Given the description of an element on the screen output the (x, y) to click on. 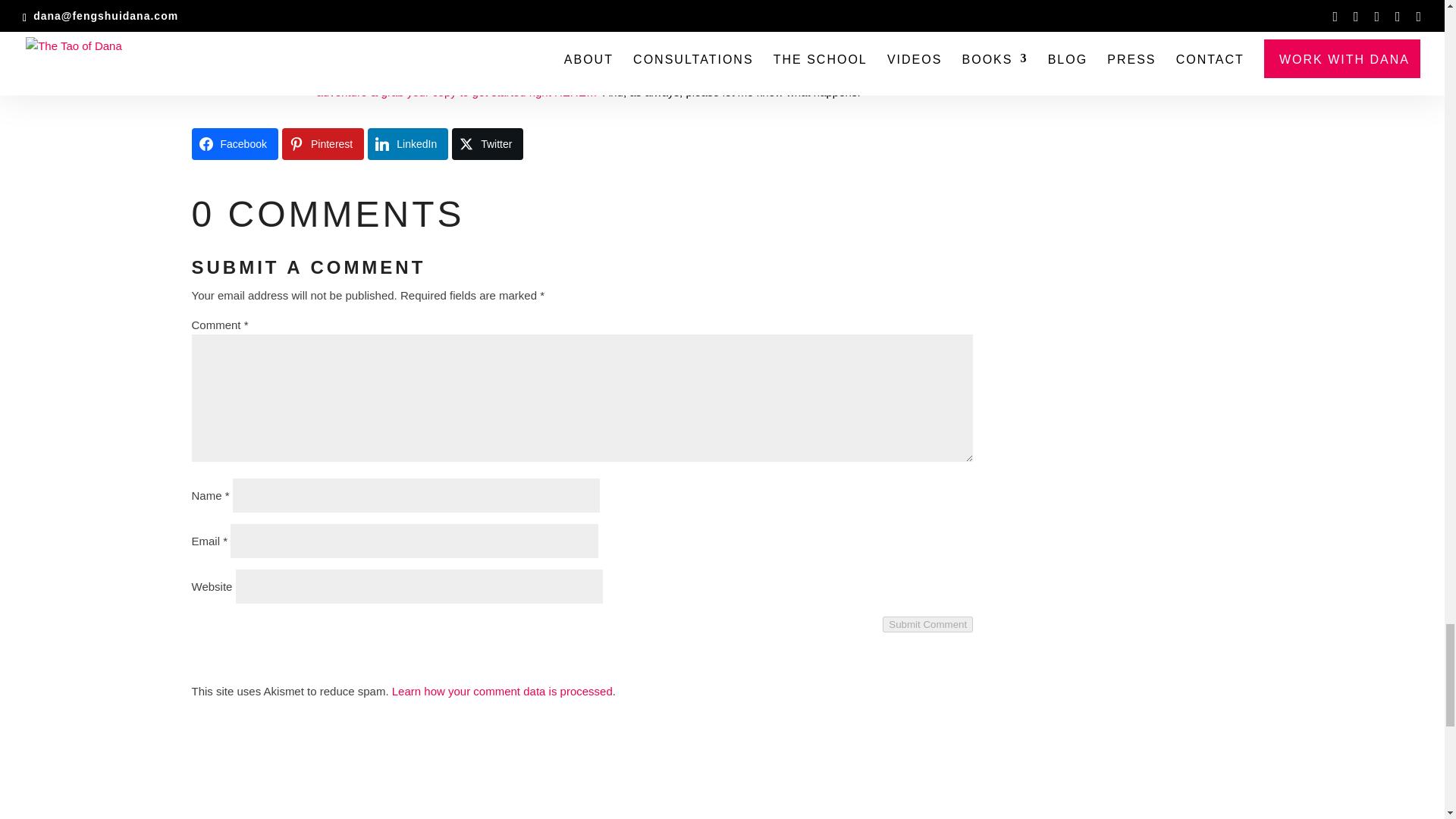
Share on Facebook (234, 143)
Pinterest (323, 143)
Share on LinkedIn (408, 143)
Share on Pinterest (323, 143)
Facebook (234, 143)
feng shui 101 book  (247, 67)
Say hello to Feng Shui 101. (837, 19)
Share on Twitter (486, 143)
